Given the description of an element on the screen output the (x, y) to click on. 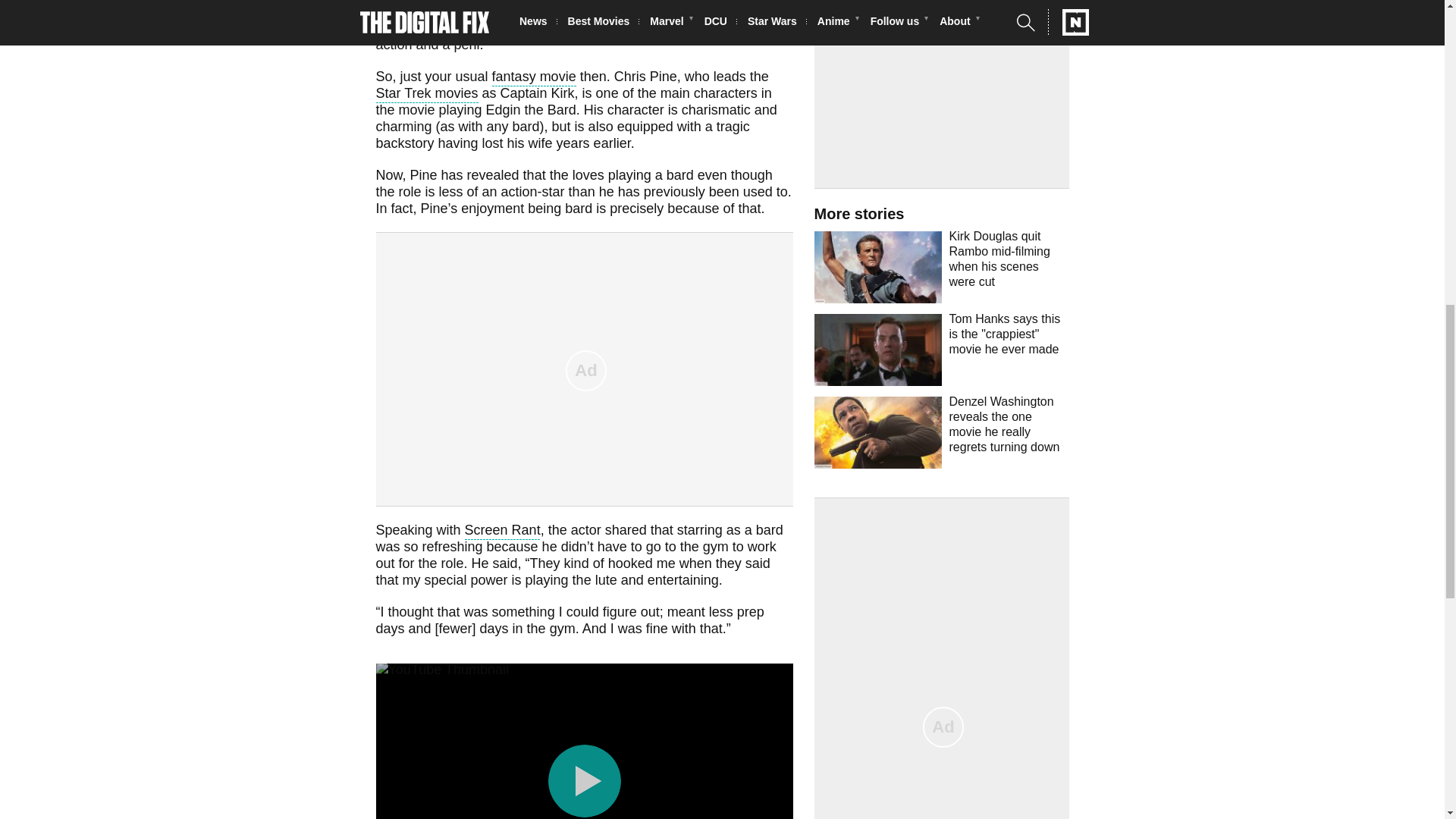
fantasy movie (534, 77)
action movie (604, 2)
new movie (705, 13)
